Given the description of an element on the screen output the (x, y) to click on. 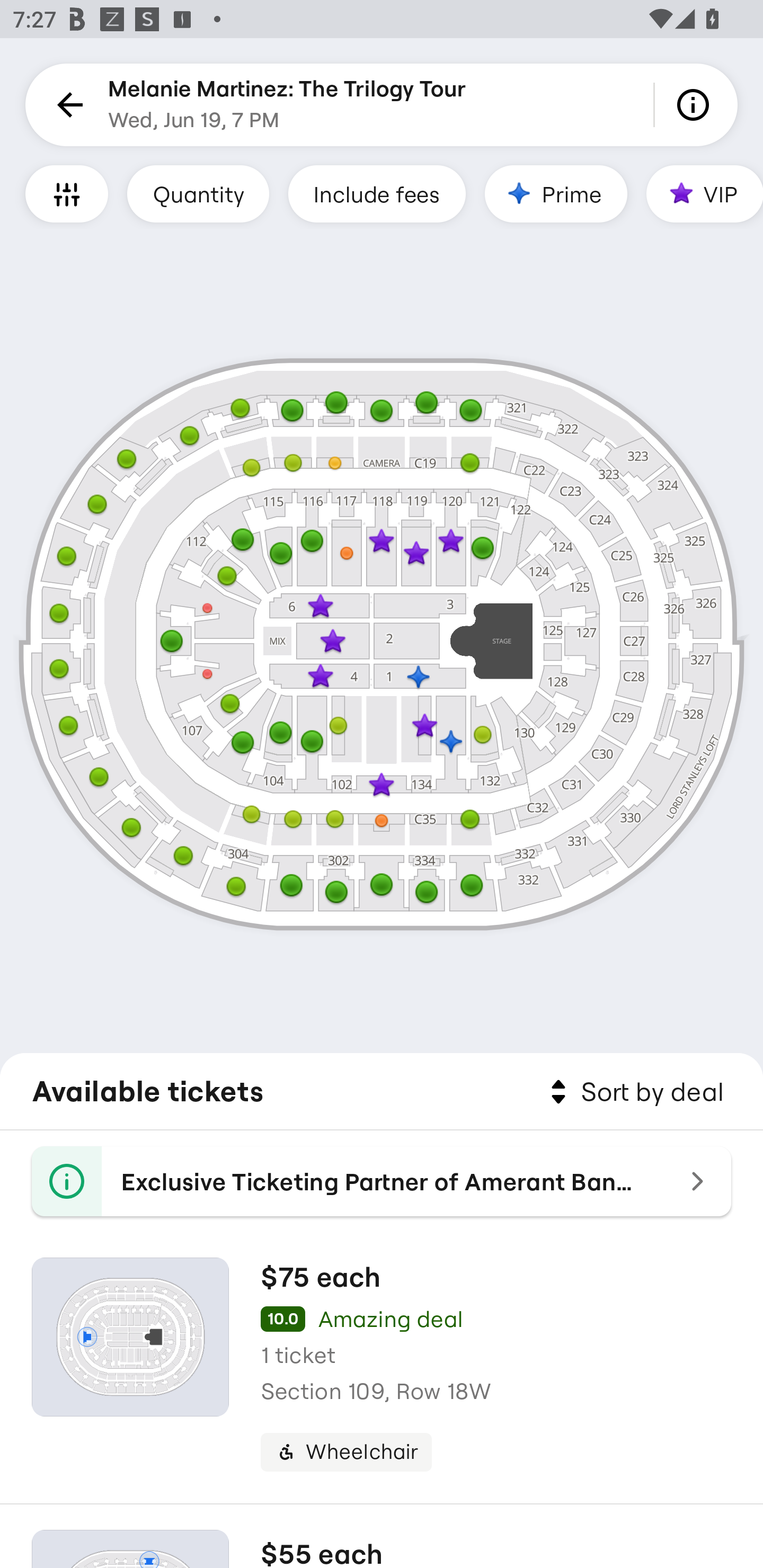
Back (66, 104)
Info (695, 104)
Filters and Accessible Seating (66, 193)
Quantity (198, 193)
Include fees (376, 193)
Prime (555, 193)
VIP (704, 193)
Sort by deal (633, 1091)
Exclusive Ticketing Partner of Amerant Bank Arena (381, 1181)
